Given the description of an element on the screen output the (x, y) to click on. 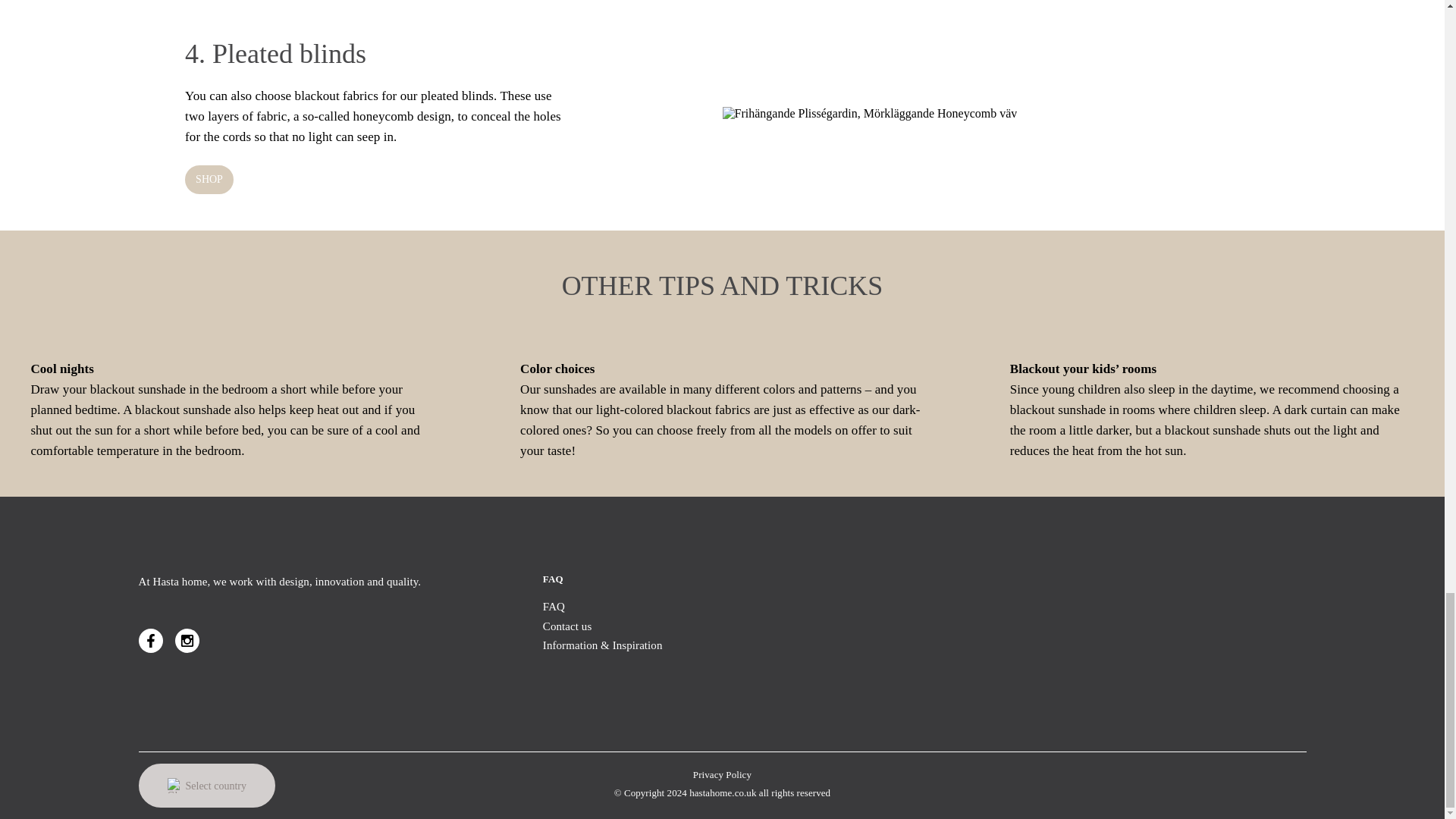
instagram (186, 640)
facebook (149, 640)
Policy (722, 775)
